Given the description of an element on the screen output the (x, y) to click on. 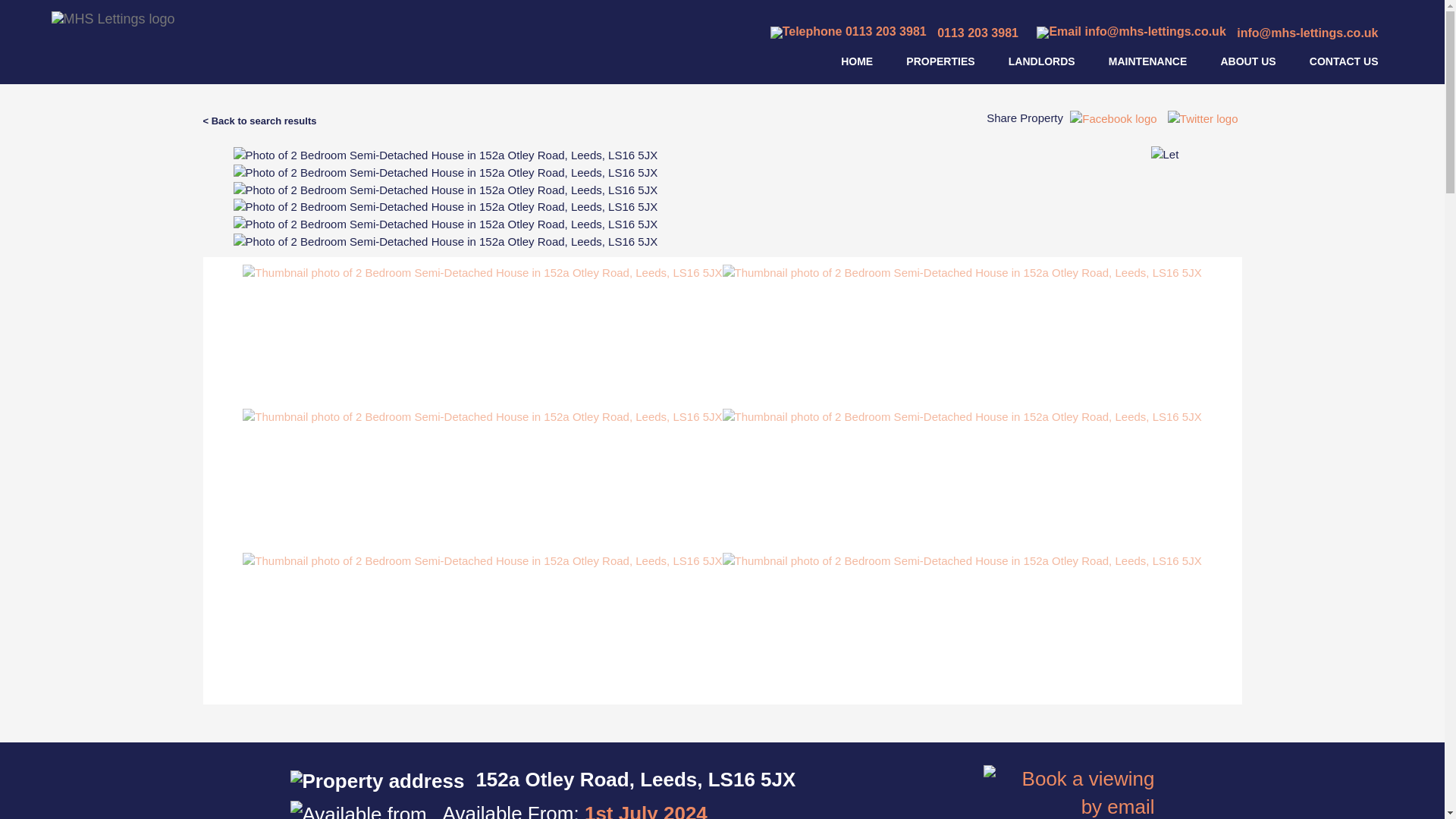
PROPERTIES (940, 61)
HOME (856, 61)
CONTACT US (1343, 61)
0113 203 3981 (893, 32)
LANDLORDS (1041, 61)
MAINTENANCE (1147, 61)
ABOUT US (1247, 61)
